Given the description of an element on the screen output the (x, y) to click on. 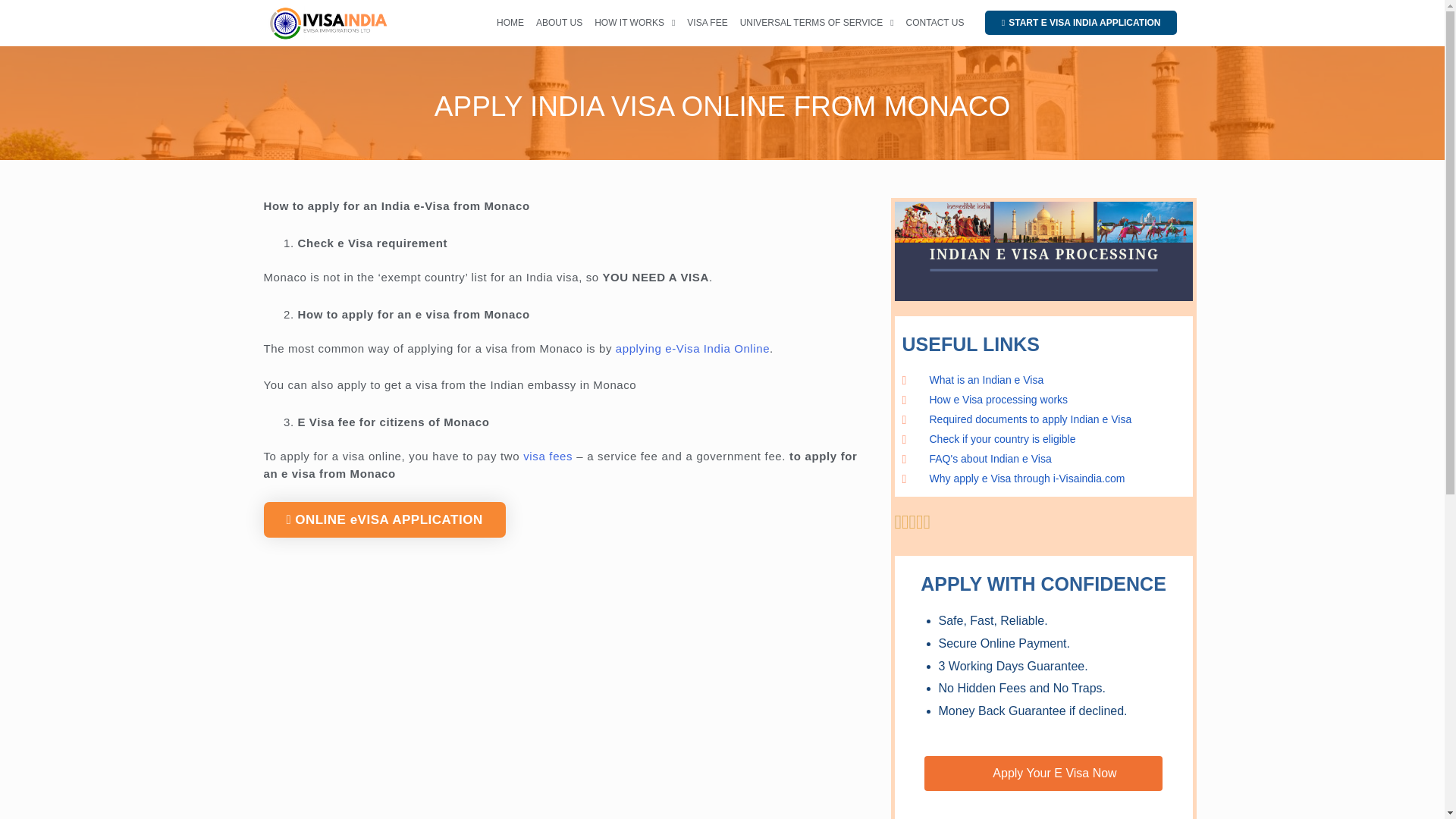
VISA FEE (706, 22)
ABOUT US (559, 22)
ONLINE eVISA APPLICATION (384, 519)
CONTACT US (935, 22)
visa fees (547, 455)
What is an Indian e Visa (1043, 380)
applying e-Visa India Online (692, 348)
UNIVERSAL TERMS OF SERVICE (817, 22)
How e Visa processing works (1043, 400)
Apply Your E Visa Now (1042, 773)
HOME (510, 22)
Why apply e Visa through i-Visaindia.com (1043, 478)
FAQ's about Indian e Visa (1043, 459)
HOW IT WORKS (634, 22)
Required documents to apply Indian e Visa (1043, 419)
